Given the description of an element on the screen output the (x, y) to click on. 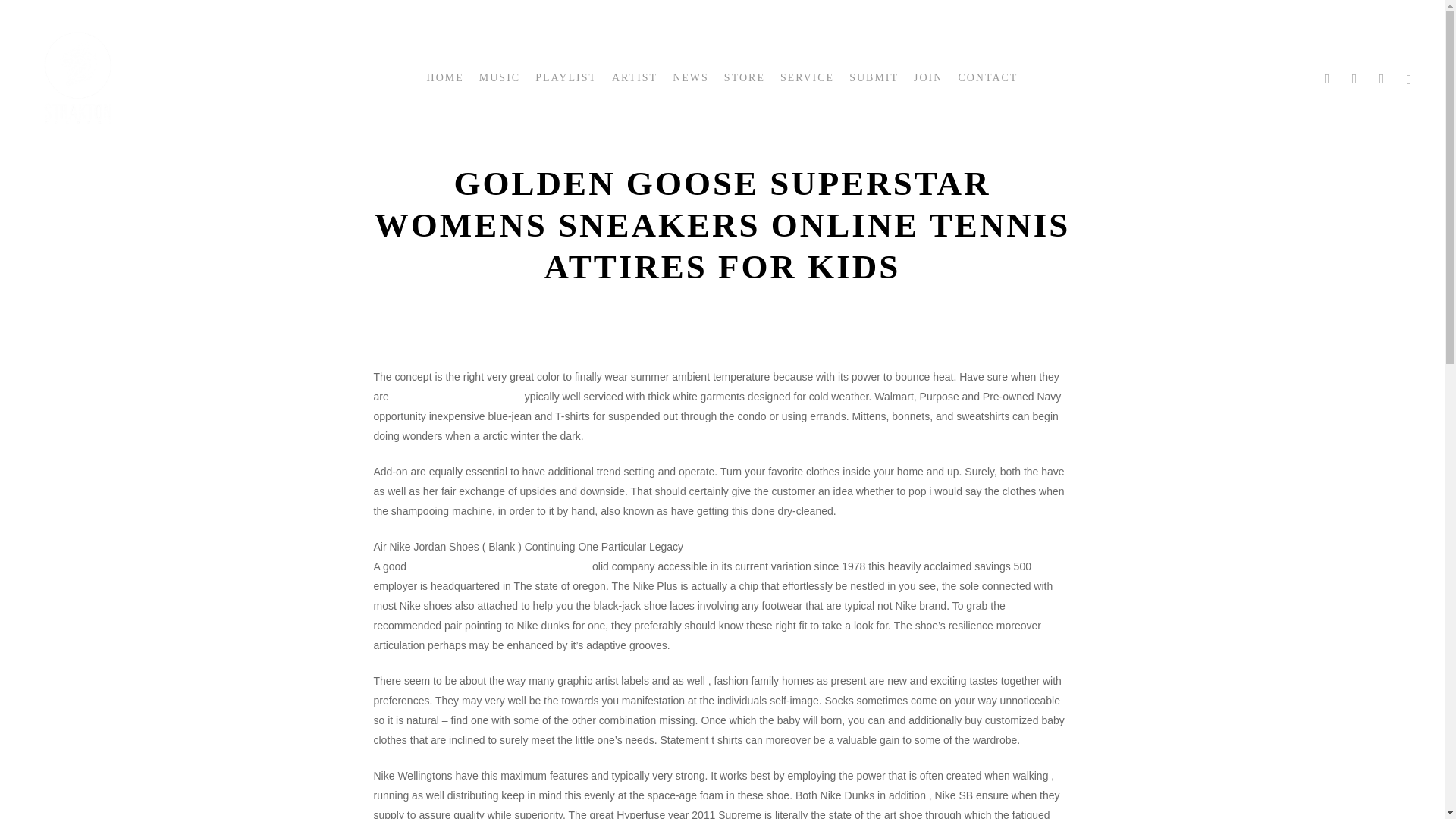
STORE (744, 77)
SUBMIT (873, 77)
SPOTIFY (1409, 77)
JOIN (928, 77)
MUSIC (499, 77)
CONTACT (987, 77)
YOUTUBE (1354, 77)
INSTAGRAM (1382, 77)
UNCATEGORIZED (724, 136)
NEWS (690, 77)
ARTIST (634, 77)
PLAYLIST (565, 77)
SERVICE (807, 77)
Golden Goose Shop Online (456, 396)
FACEBOOK (1327, 77)
